Given the description of an element on the screen output the (x, y) to click on. 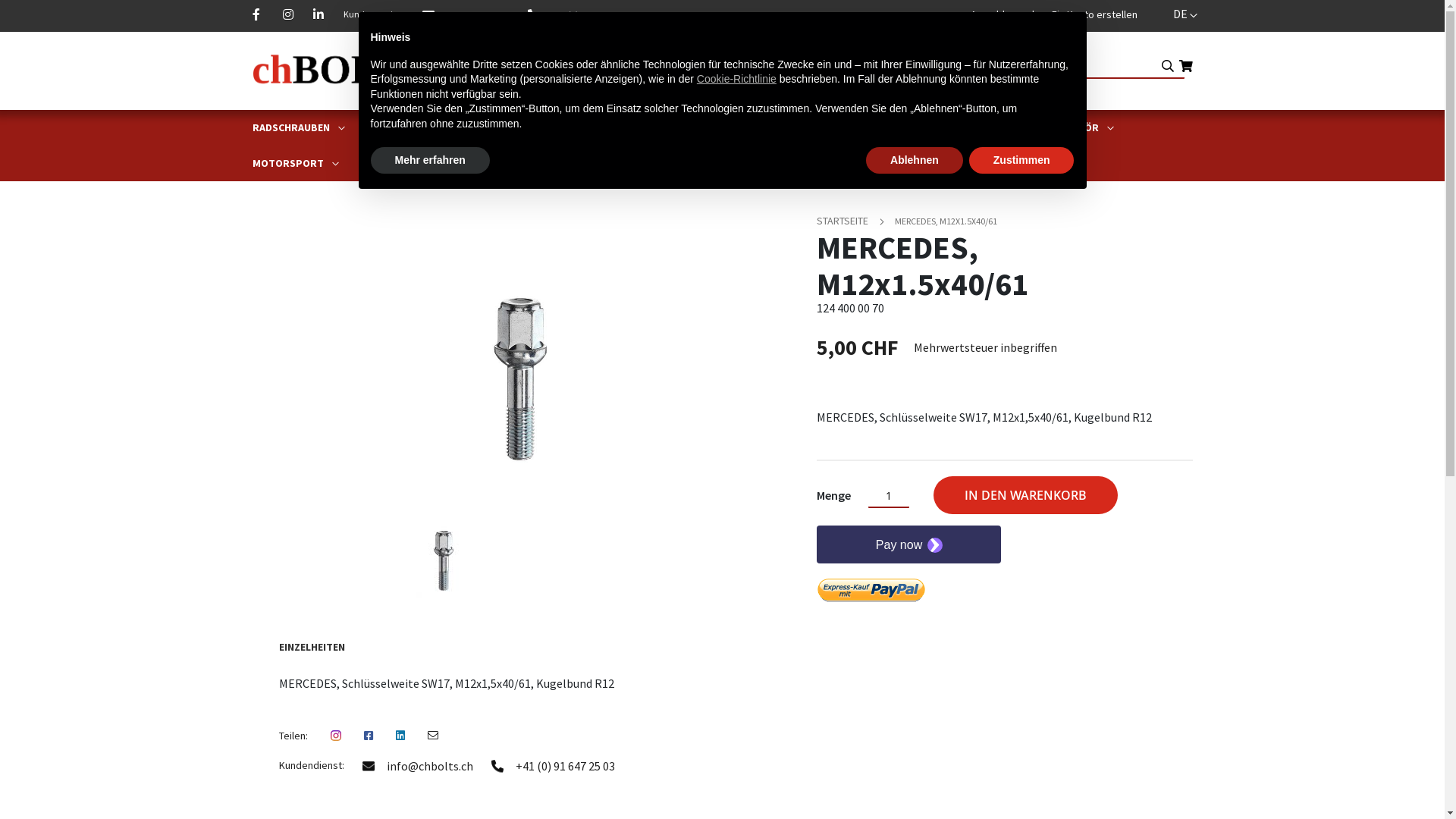
Anmelden Element type: text (993, 14)
Ablehnen Element type: text (914, 160)
Mein Warenkorb Element type: text (1185, 65)
Cookie-Richtlinie Element type: text (736, 78)
+41 (0) 91 647 25 03 Element type: text (553, 765)
Facebook Element type: text (255, 14)
IN DEN WARENKORB Element type: text (1024, 495)
Zum Ende der Bildgalerie springen Element type: text (251, 199)
MOTORSPORT Element type: text (290, 163)
RADSCHRAUBEN Element type: text (293, 127)
Ein Konto erstellen Element type: text (1093, 14)
Menge Element type: hover (887, 495)
Zum Anfang der Bildgalerie springen Element type: text (787, 199)
GUTACHTEN Element type: text (386, 163)
Zum Inhalt springen Element type: text (643, 6)
RADBOLZEN Element type: text (541, 127)
Mit PayPal bezahlen Element type: hover (870, 590)
info@chbolts.ch Element type: text (417, 765)
ORIGINAL SCHRAUBEN UND MUTTERN Element type: text (936, 127)
info@chbolts.ch Element type: text (464, 15)
EINZELHEITEN Element type: text (310, 645)
Linkedin Element type: text (316, 14)
Zustimmen Element type: text (1021, 160)
ZENTRIERRINGE Element type: text (639, 127)
Secure payment button frame Element type: hover (907, 544)
Thumbnail 1 Element type: hover (443, 558)
STARTSEITE Element type: text (842, 220)
Instagram Element type: text (285, 14)
DIEBSTAHLSICHERUNG Element type: text (765, 127)
Mehr erfahren Element type: text (429, 160)
+41 (0) 91 647 25 03 Element type: text (576, 15)
